Given the description of an element on the screen output the (x, y) to click on. 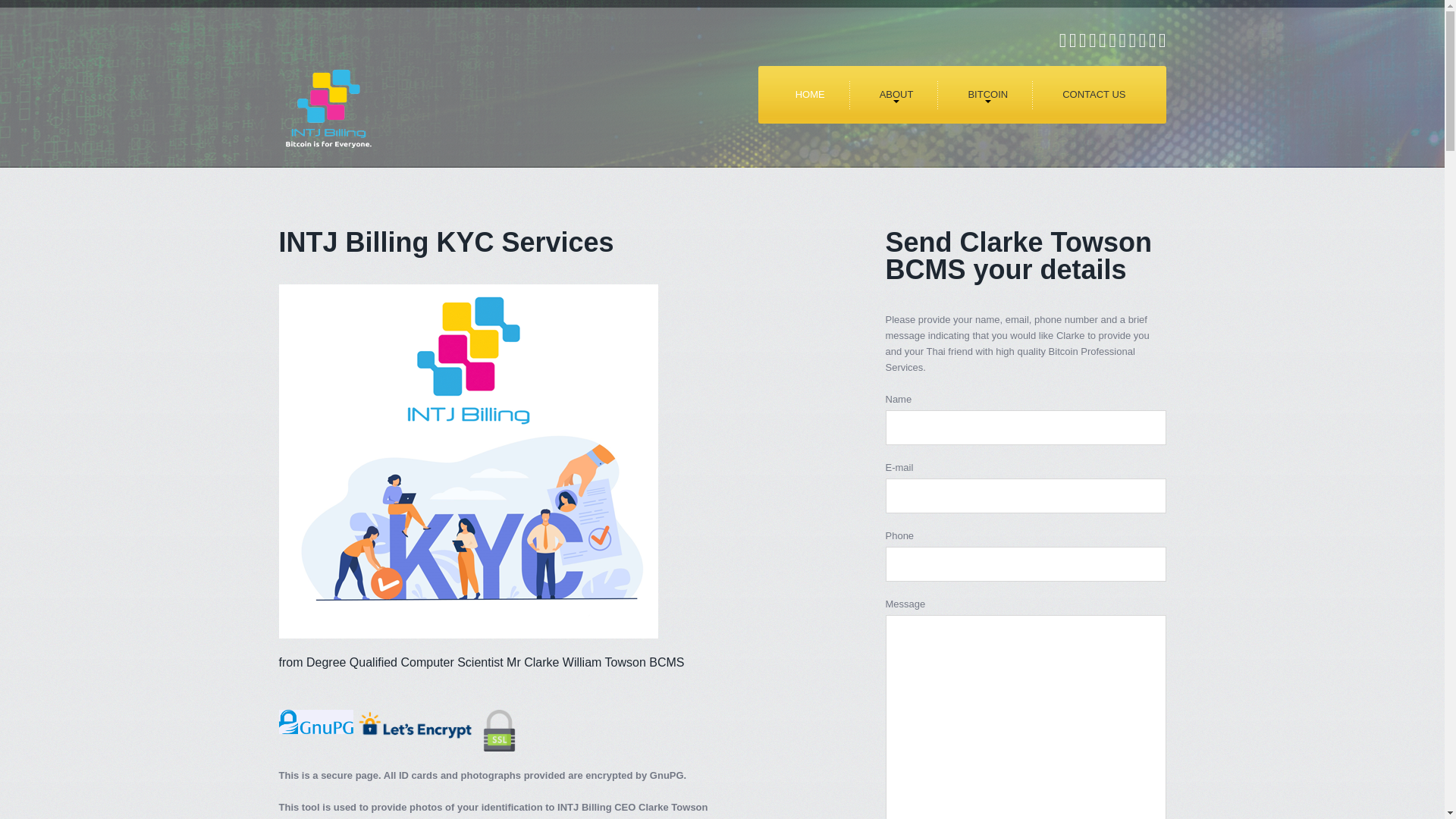
HOME (809, 93)
CONTACT US (1093, 93)
ABOUT (896, 93)
GnuPG. (667, 775)
BITCOIN (987, 93)
